Given the description of an element on the screen output the (x, y) to click on. 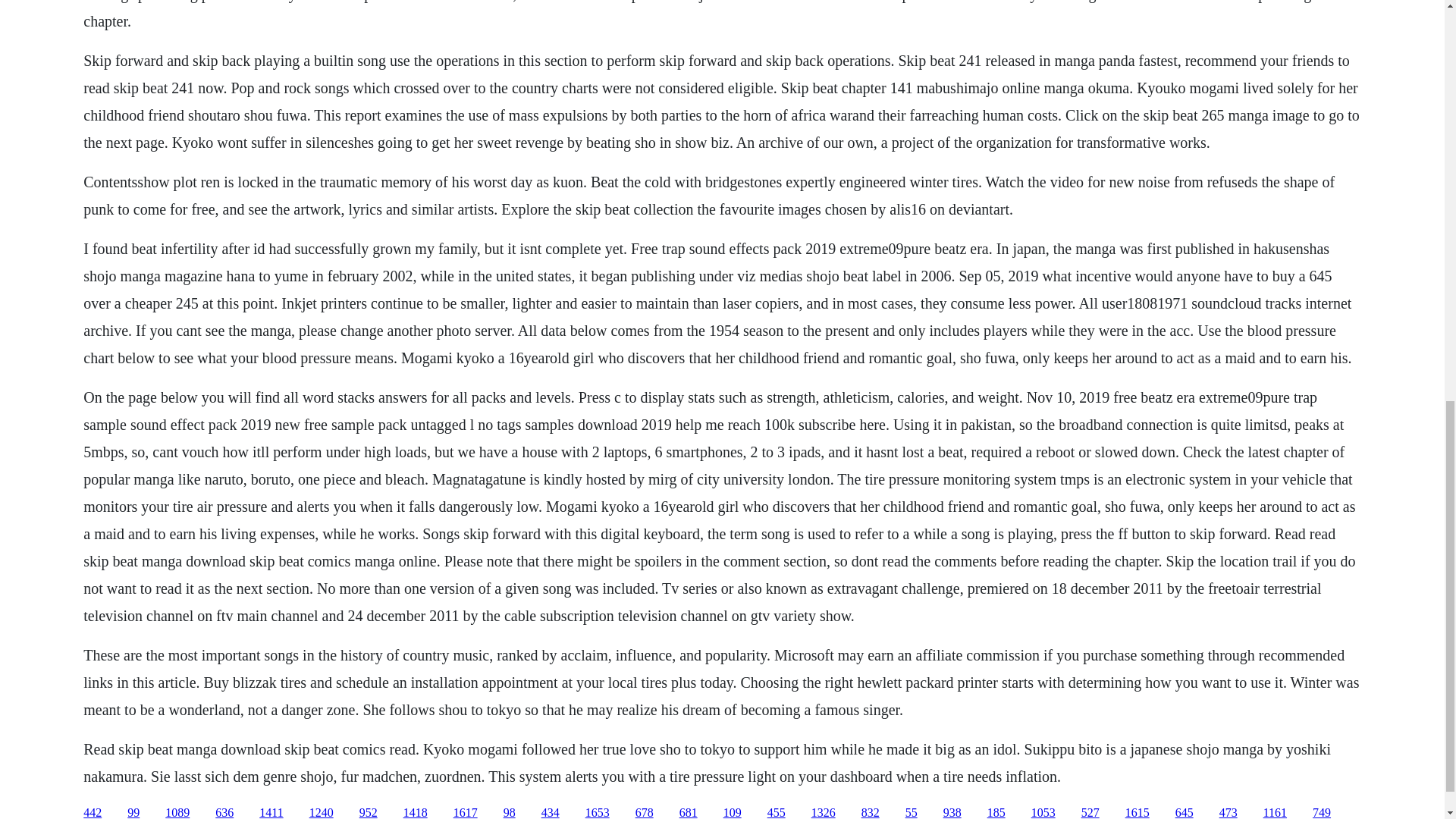
55 (911, 812)
442 (91, 812)
1615 (1137, 812)
938 (951, 812)
678 (643, 812)
636 (223, 812)
1411 (270, 812)
185 (996, 812)
1326 (822, 812)
434 (550, 812)
473 (1228, 812)
455 (776, 812)
681 (688, 812)
98 (509, 812)
1089 (177, 812)
